Given the description of an element on the screen output the (x, y) to click on. 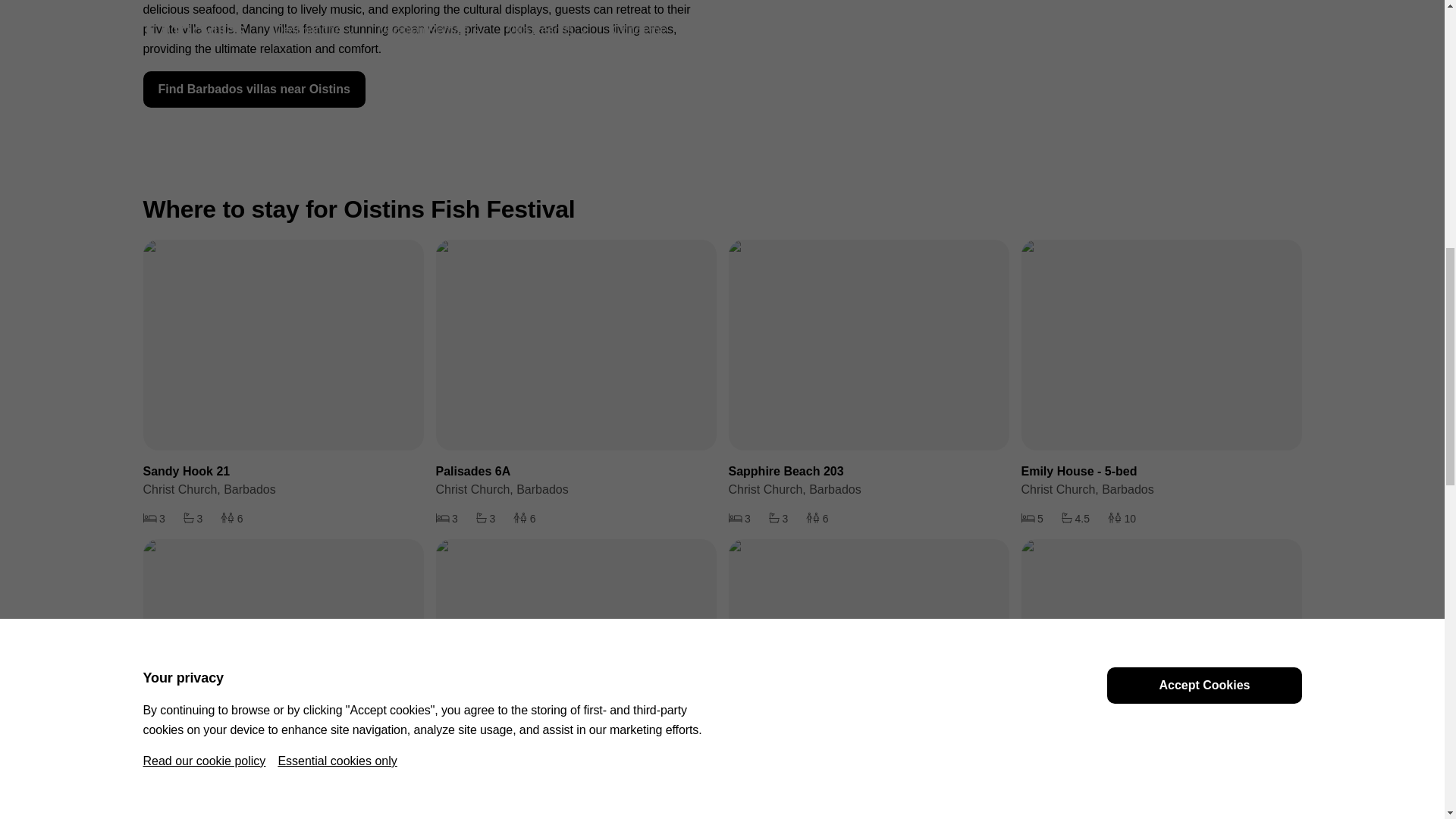
Palisades 6A (575, 383)
Margate Gardens 4 (868, 678)
Sandy Hook 21 (282, 383)
Seaview Long Beach (575, 678)
Emily House - 5-bed (1160, 383)
Emily House (282, 678)
Sapphire Beach 203 (868, 383)
Sapphire Beach 205 (1160, 678)
